Given the description of an element on the screen output the (x, y) to click on. 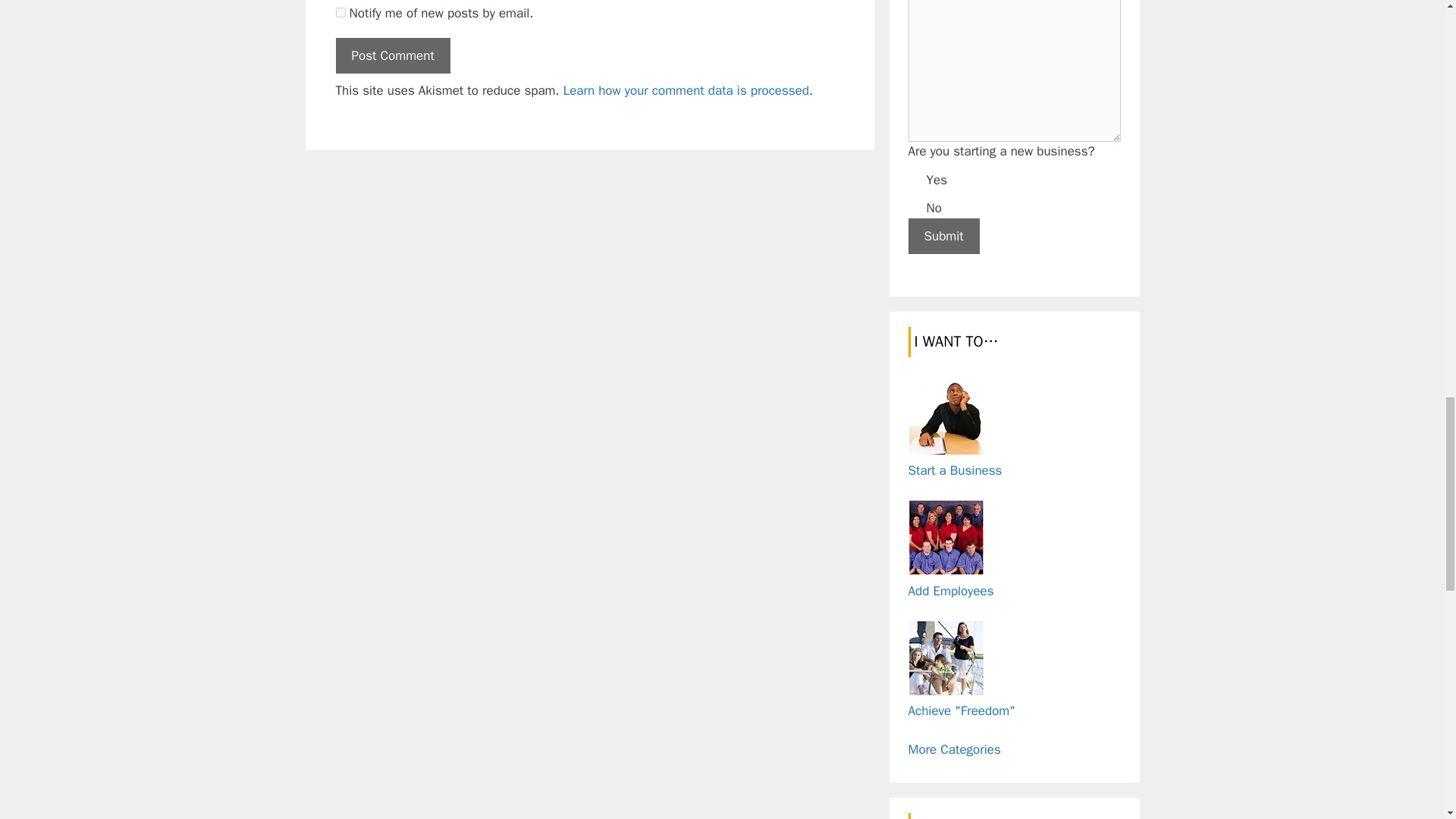
No (914, 205)
subscribe (339, 12)
Post Comment (391, 55)
Yes (914, 177)
